Given the description of an element on the screen output the (x, y) to click on. 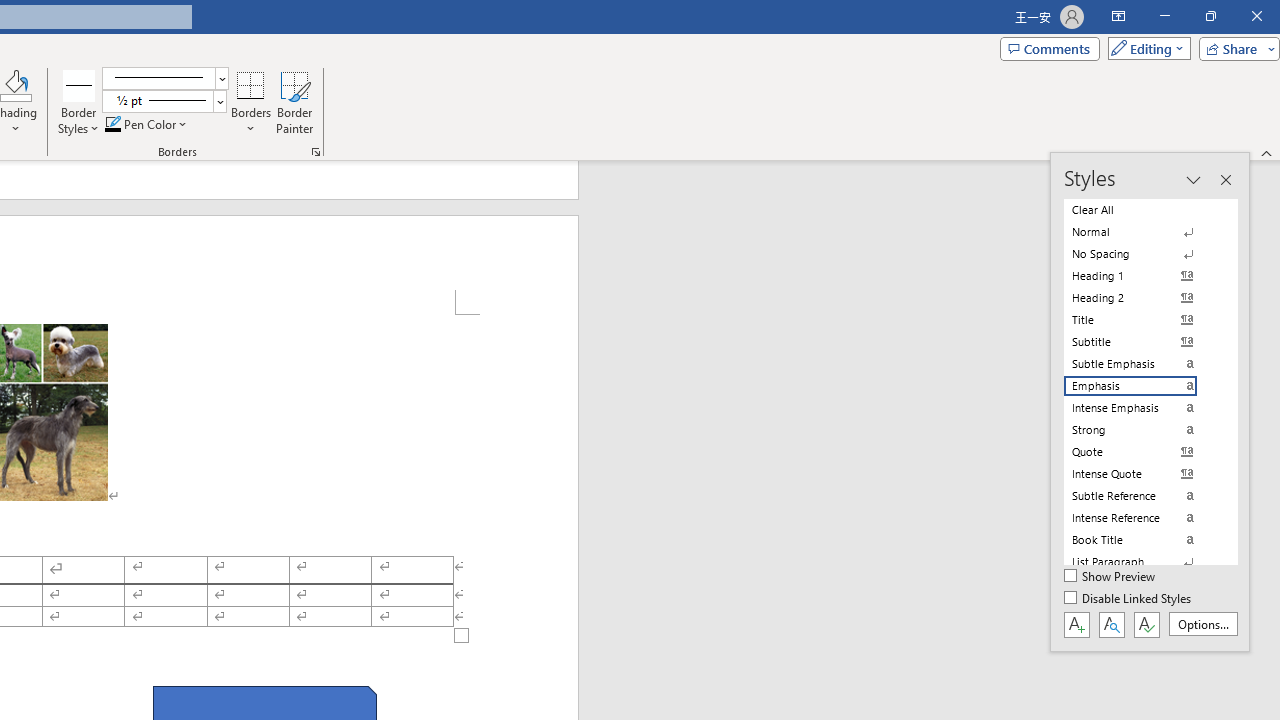
Pen Color (147, 124)
Class: NetUIButton (1146, 624)
Quote (1142, 451)
Strong (1142, 429)
Intense Emphasis (1142, 407)
Disable Linked Styles (1129, 599)
Open (219, 101)
Normal (1142, 232)
Pen Color RGB(0, 0, 0) (113, 124)
Heading 2 (1142, 297)
